Given the description of an element on the screen output the (x, y) to click on. 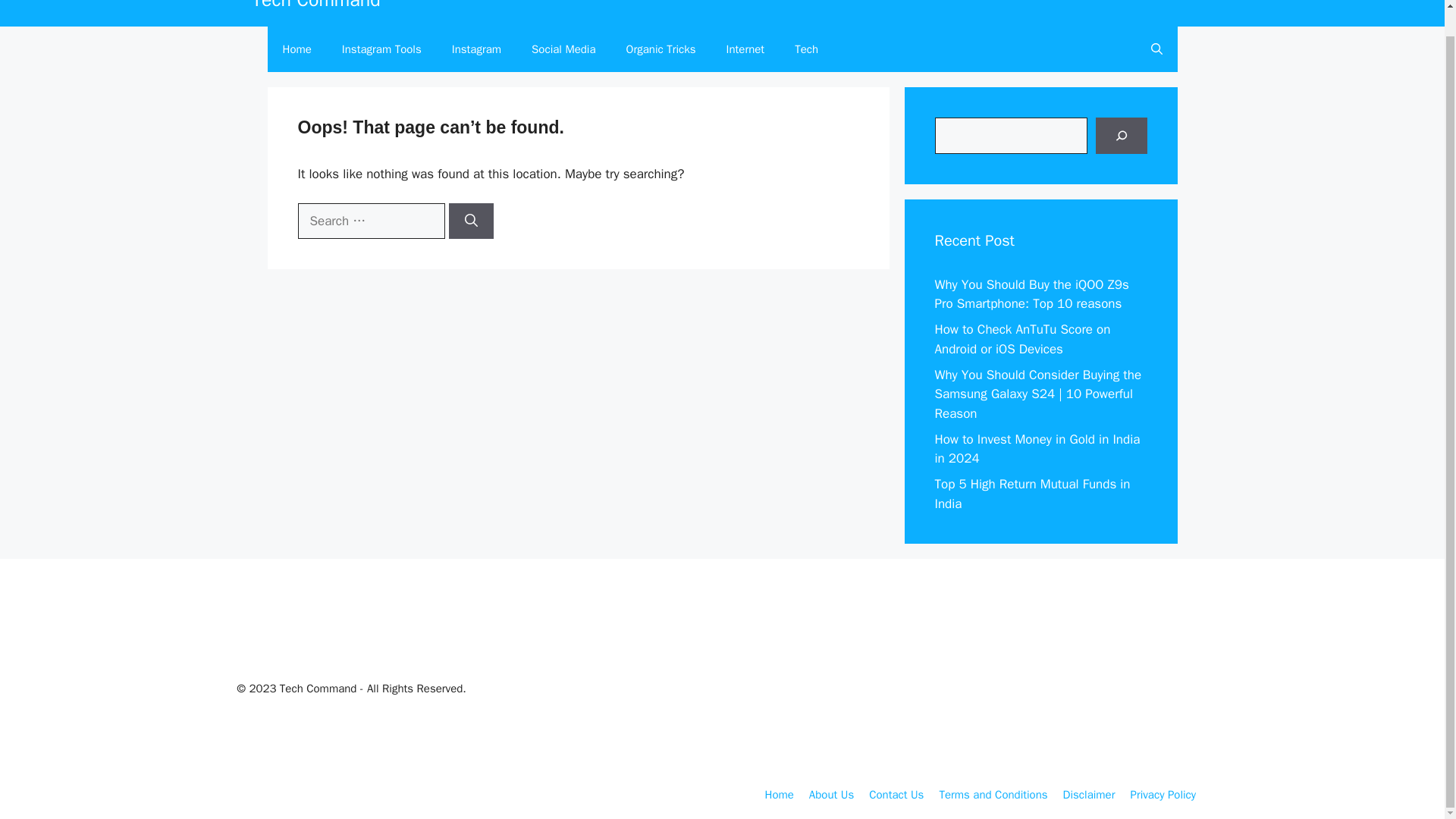
Contact Us (896, 794)
Privacy Policy (1162, 794)
How to Check AnTuTu Score on Android or iOS Devices (1021, 339)
Search for: (370, 221)
Social Media (563, 49)
Advertisement (985, 680)
Home (296, 49)
Terms and Conditions (992, 794)
Instagram (476, 49)
Tech Command (315, 5)
